Given the description of an element on the screen output the (x, y) to click on. 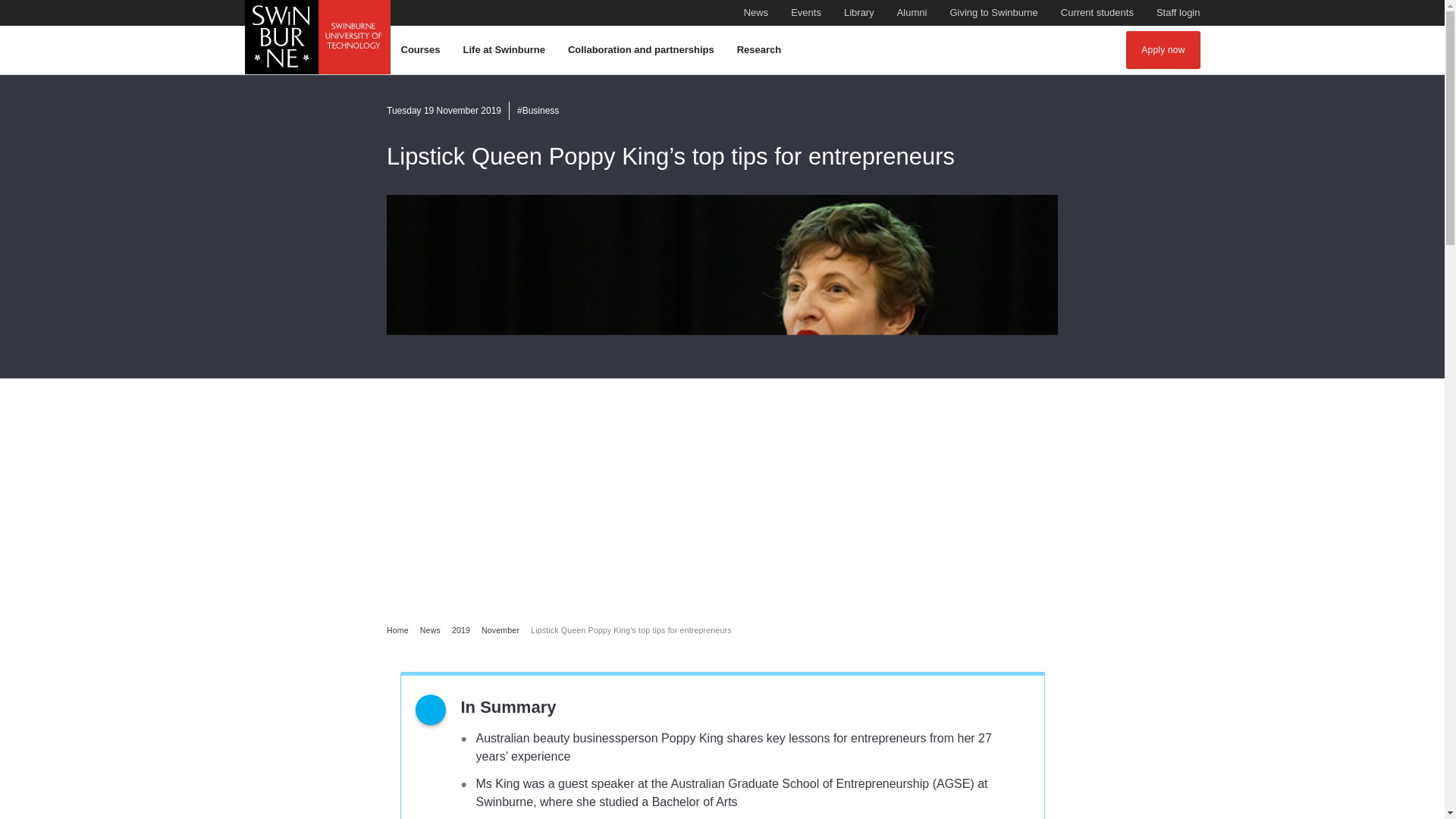
Giving to Swinburne (992, 13)
Giving to Swinburne (992, 13)
Alumni (911, 13)
Staff login (1177, 13)
Events (805, 13)
Alumni (911, 13)
Current students (1097, 13)
Library (422, 49)
Events (859, 13)
Current students (805, 13)
Skip to search (1097, 13)
News (721, 7)
Staff login (756, 13)
Library (1177, 13)
